Given the description of an element on the screen output the (x, y) to click on. 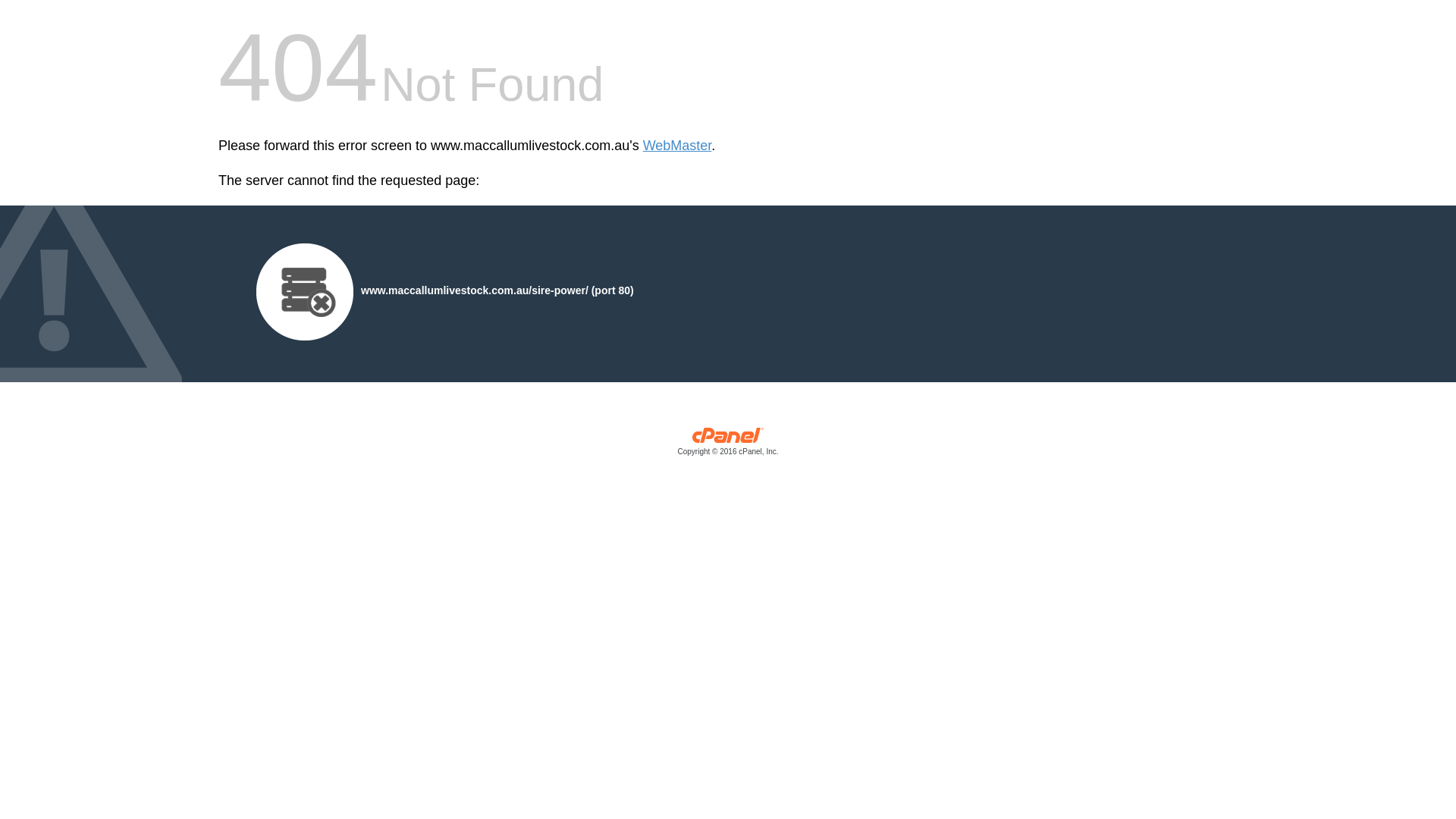
WebMaster Element type: text (677, 145)
